Given the description of an element on the screen output the (x, y) to click on. 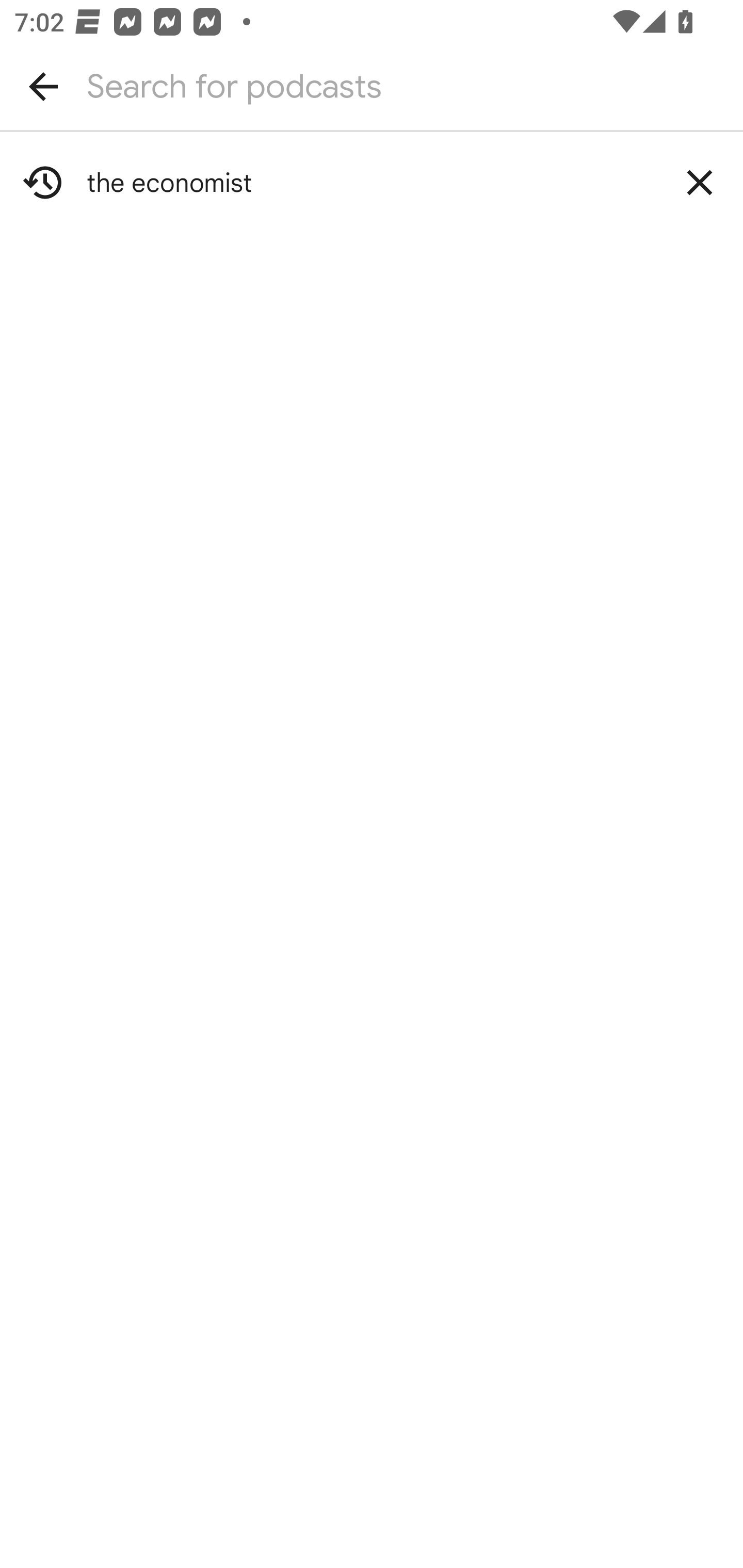
Search for podcasts (371, 85)
the economist (371, 182)
